Given the description of an element on the screen output the (x, y) to click on. 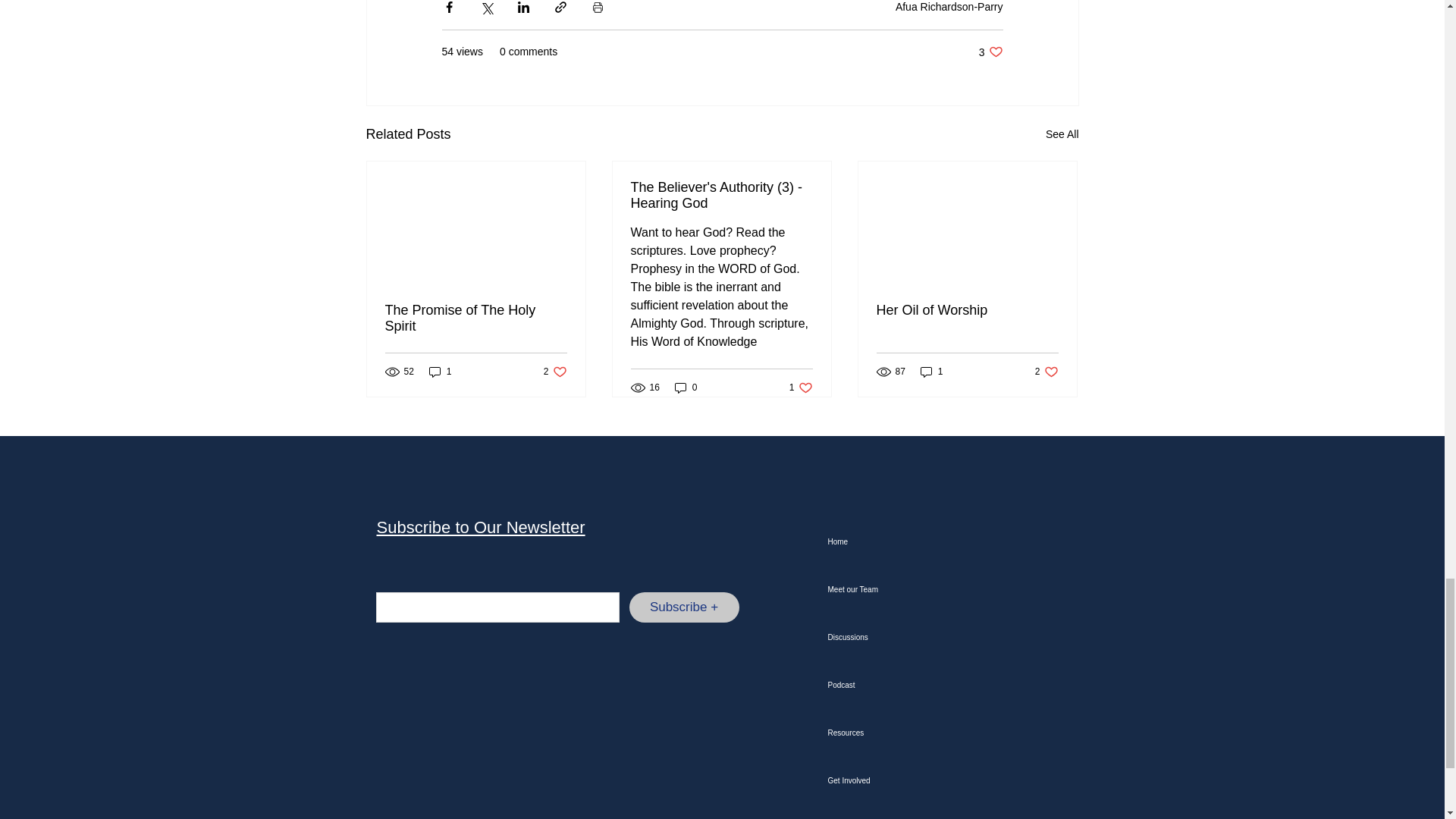
Afua Richardson-Parry (949, 6)
1 (440, 371)
See All (555, 371)
The Promise of The Holy Spirit (1061, 134)
